Given the description of an element on the screen output the (x, y) to click on. 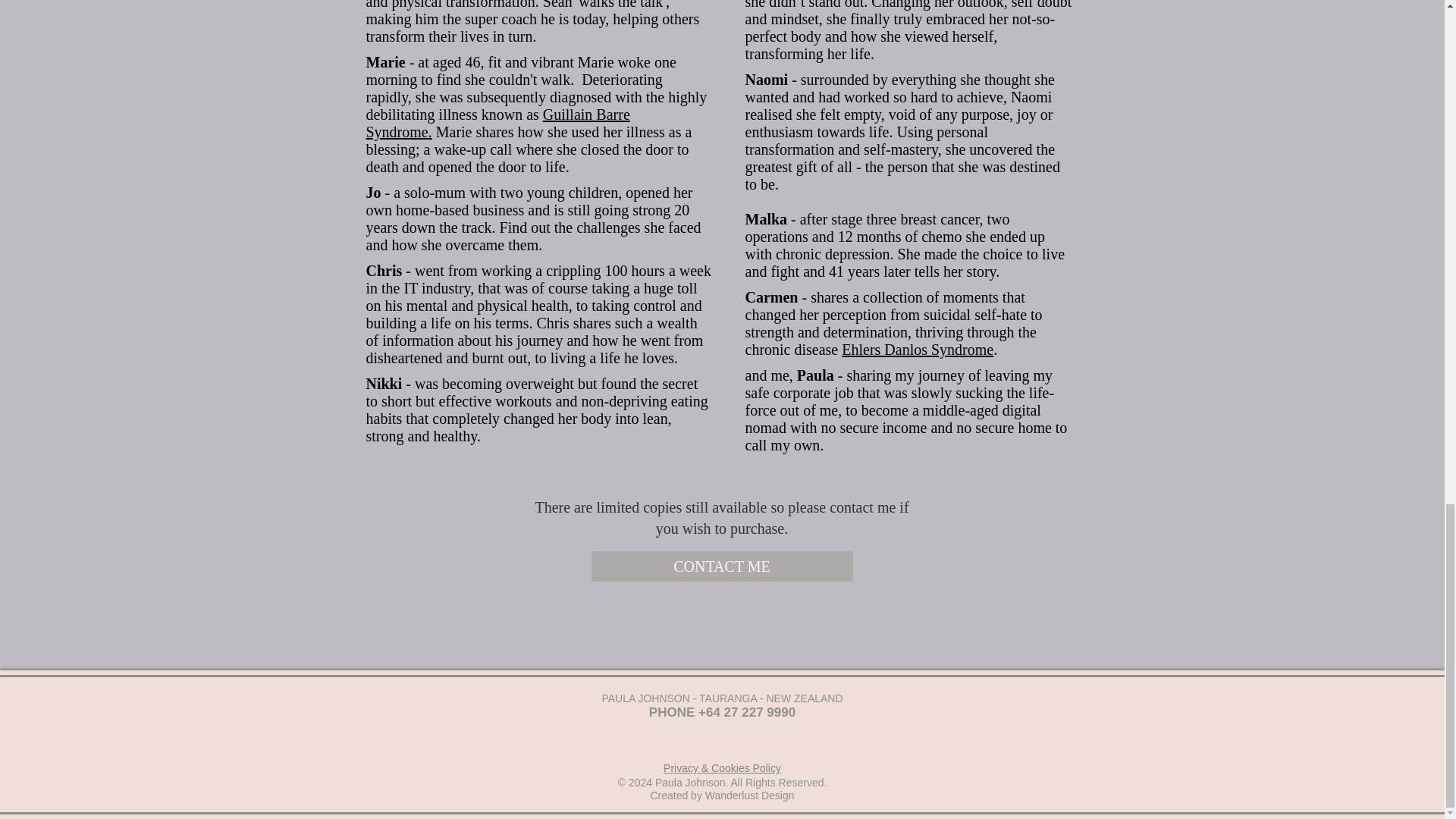
CONTACT ME (722, 566)
Ehlers Danlos Syndrome (916, 349)
Guillain Barre Syndrome. (496, 123)
Created by Wanderlust Design (721, 795)
 Marie shares (472, 131)
